Given the description of an element on the screen output the (x, y) to click on. 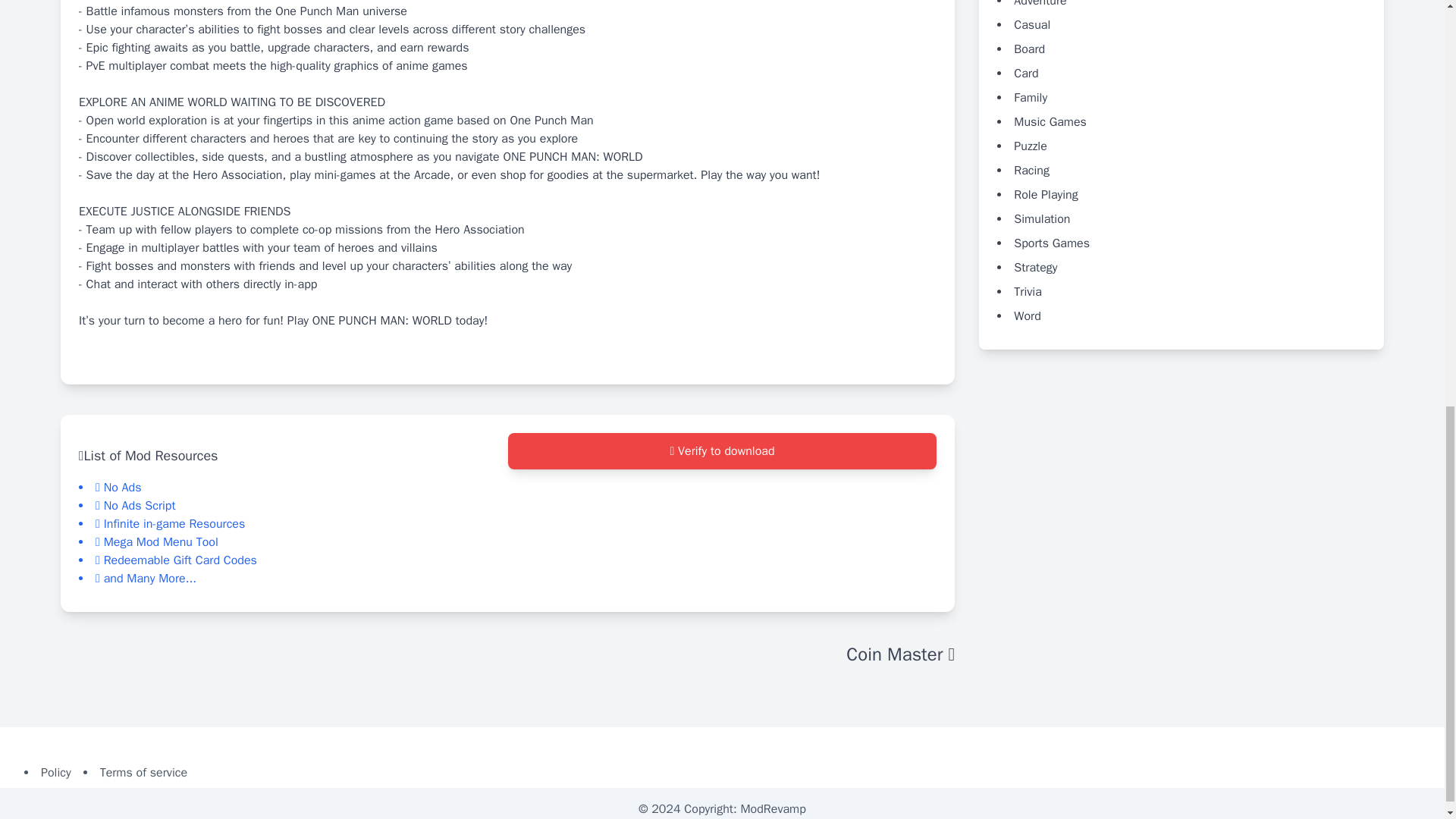
Coin Master (900, 654)
Music Games (1049, 120)
Puzzle (1029, 145)
Role Playing (1045, 193)
Verify to download (722, 513)
Simulation (1041, 218)
Family (1029, 96)
Adventure (1039, 3)
Casual (1031, 23)
Racing (1031, 169)
Card (1025, 72)
Verify to download (722, 451)
Board (1029, 48)
